Given the description of an element on the screen output the (x, y) to click on. 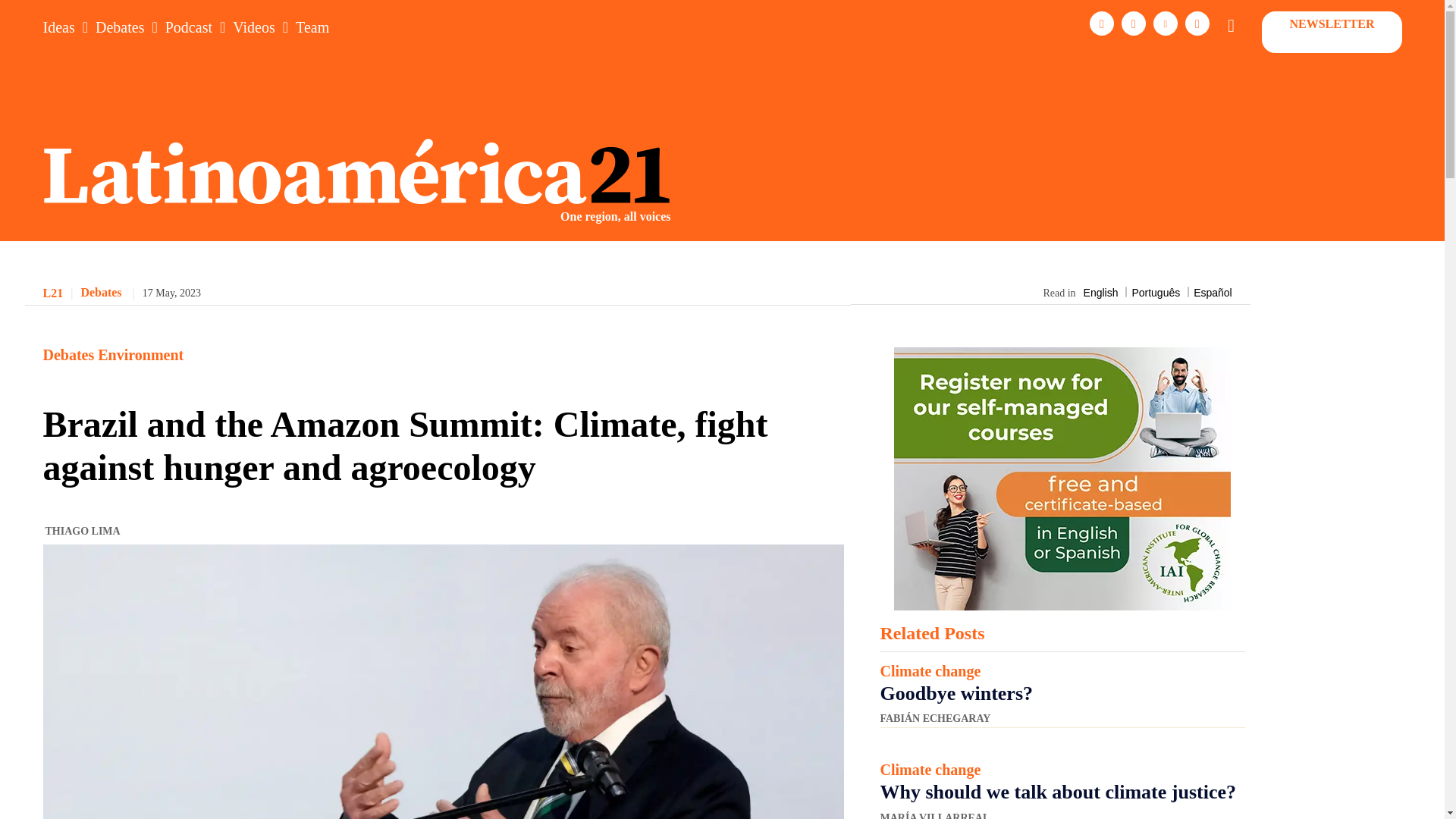
Podcast (188, 27)
Videos (253, 27)
Team (312, 27)
Debates (120, 27)
